Given the description of an element on the screen output the (x, y) to click on. 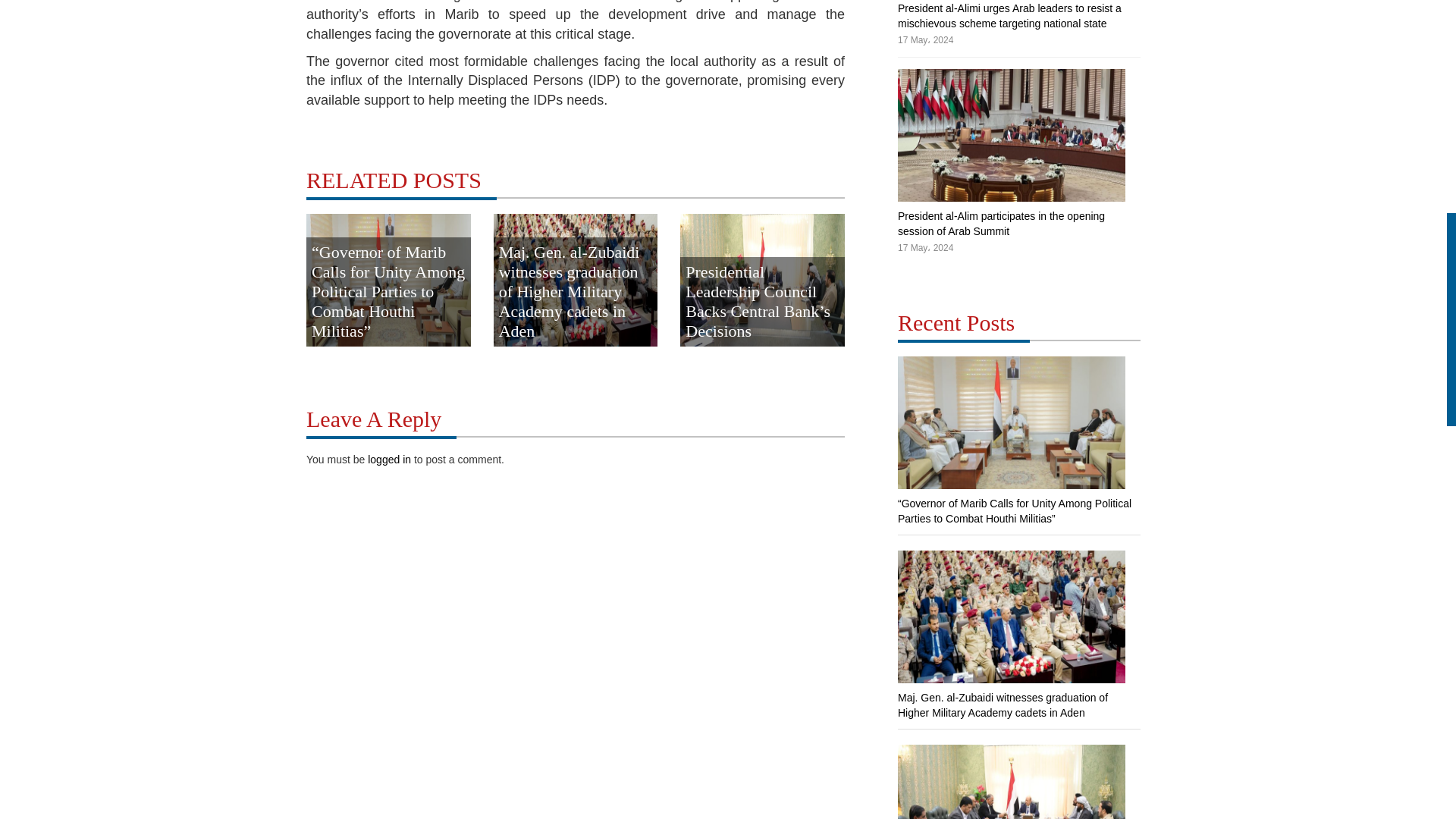
logged in (389, 459)
